Given the description of an element on the screen output the (x, y) to click on. 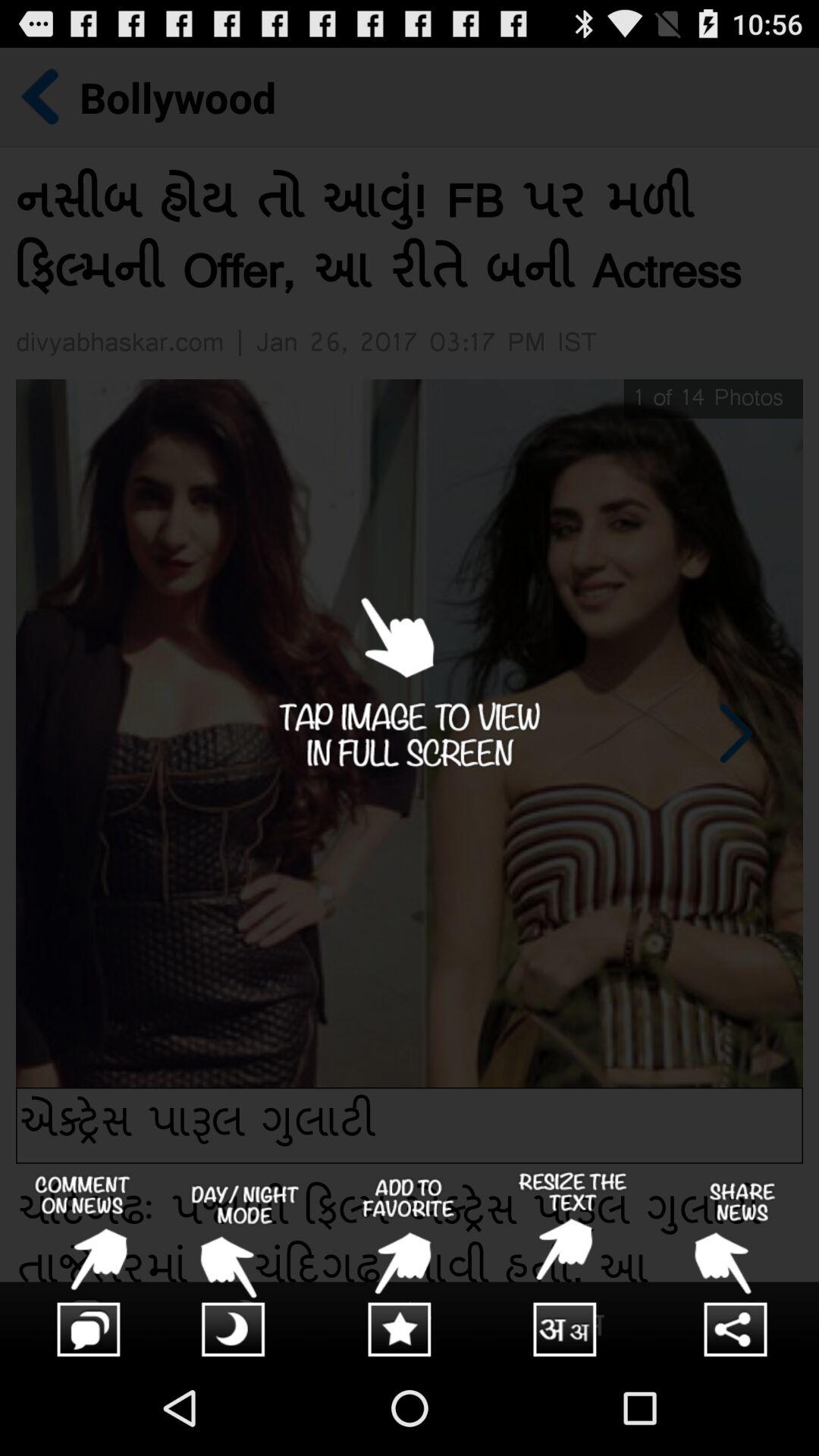
share page (737, 1265)
